Given the description of an element on the screen output the (x, y) to click on. 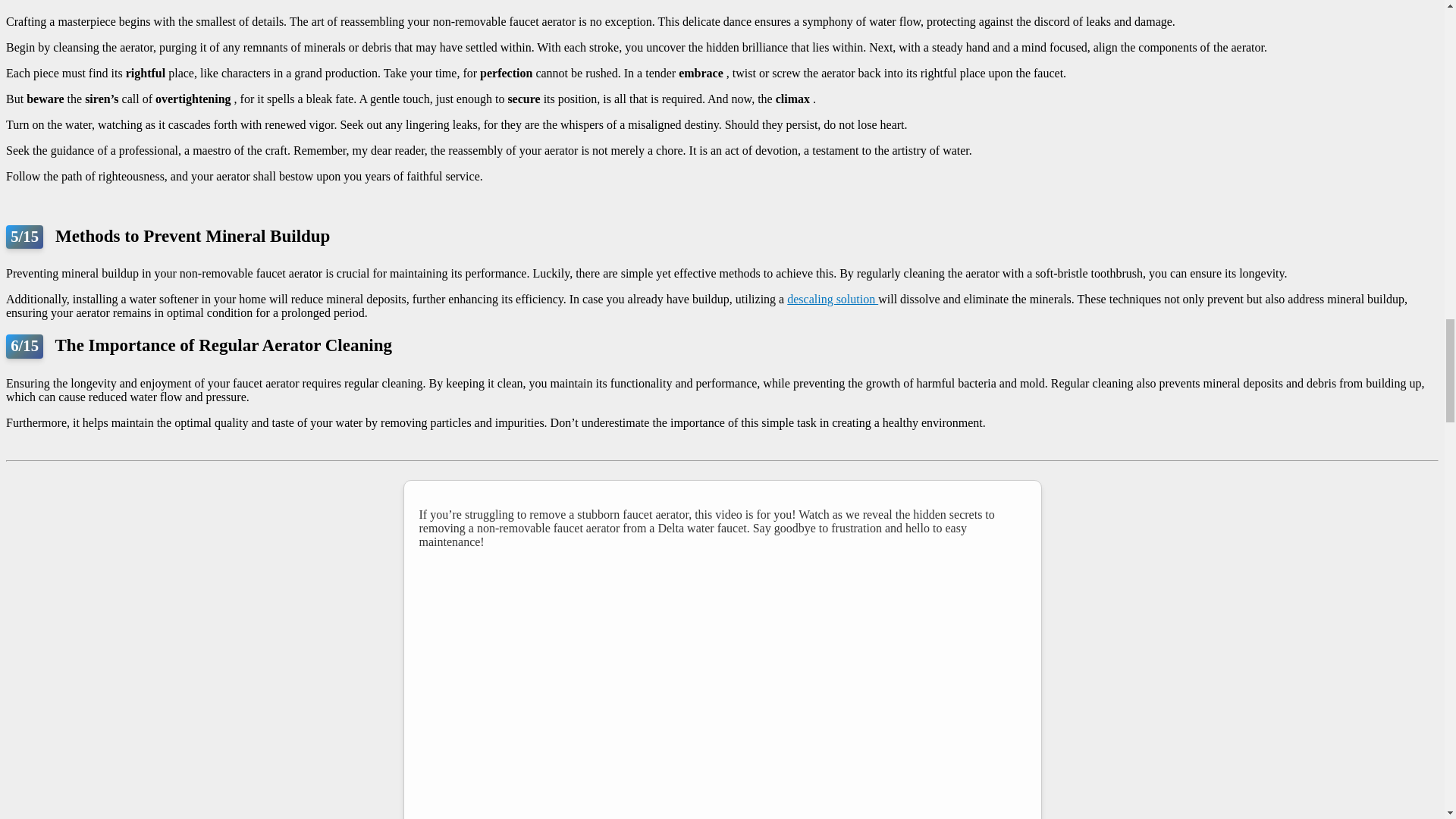
descaling solution (832, 298)
